Given the description of an element on the screen output the (x, y) to click on. 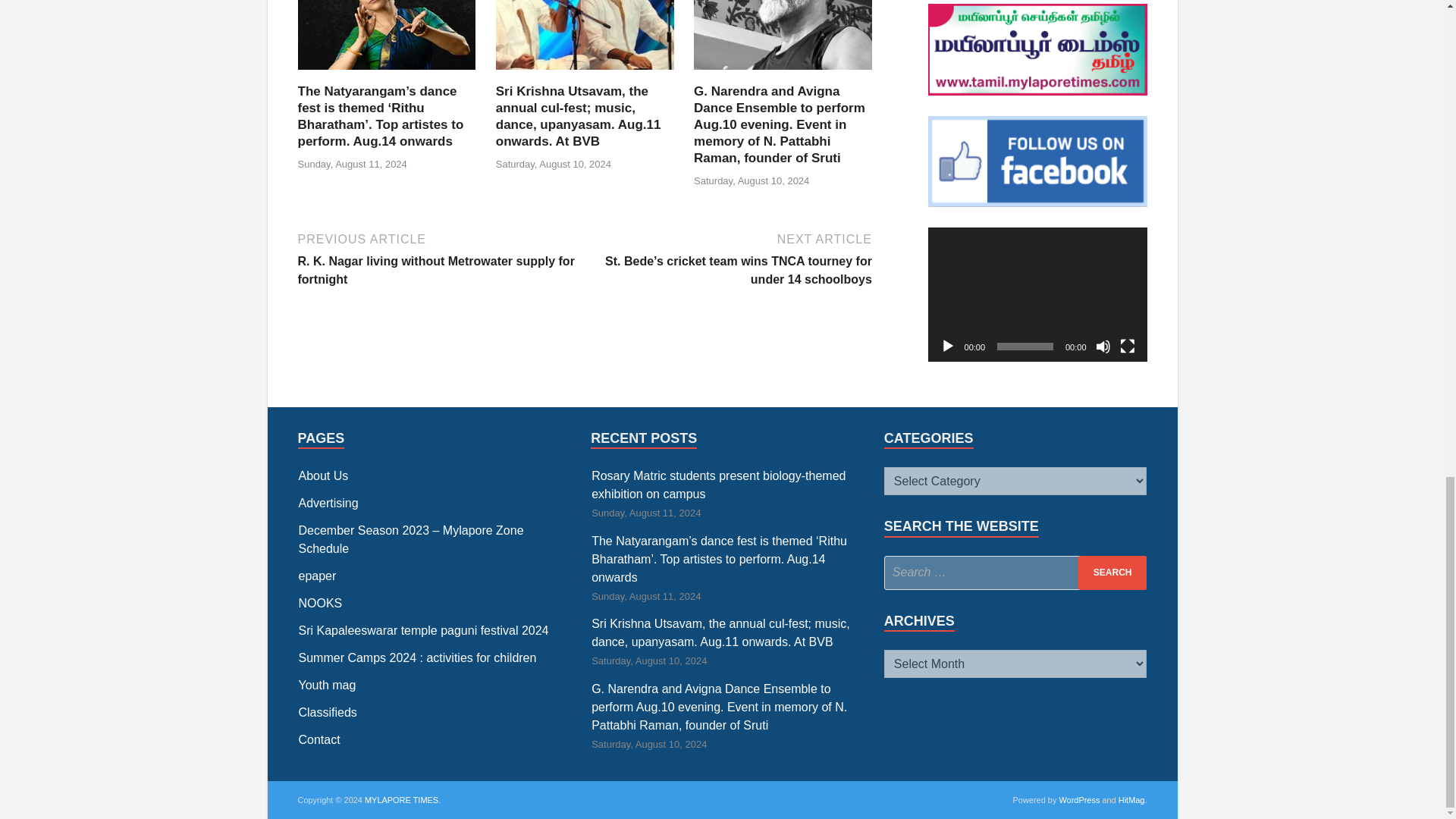
HitMag WordPress Theme (1131, 799)
Search (1112, 572)
Mute (1101, 346)
WordPress (1078, 799)
Fullscreen (1126, 346)
Search (1112, 572)
MYLAPORE TIMES (401, 799)
